Given the description of an element on the screen output the (x, y) to click on. 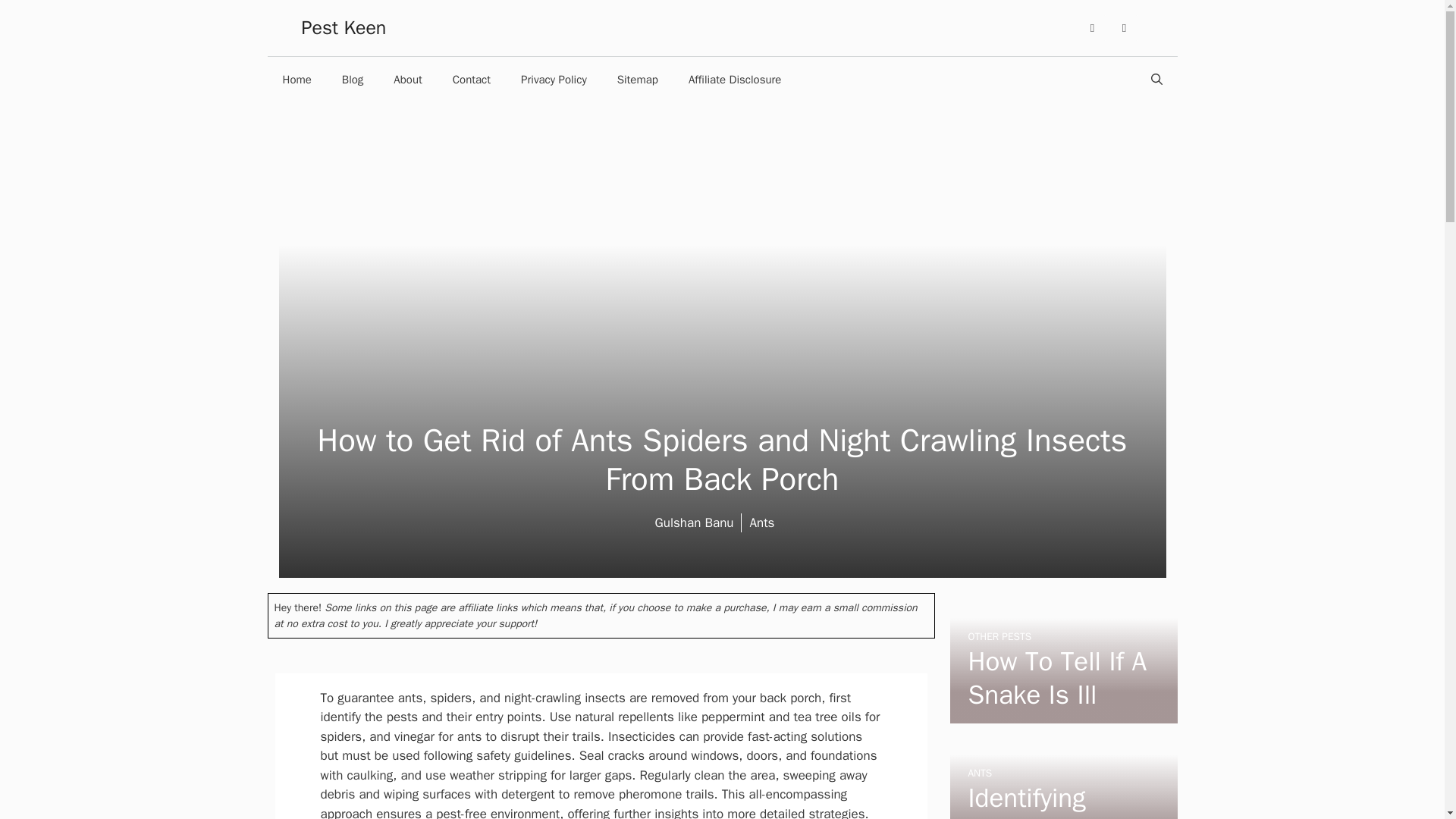
Contact (471, 79)
Blog (352, 79)
Facebook (1092, 27)
Identifying Raspberry Ants By Their Swarm (1057, 800)
Twitter (1124, 27)
How To Tell If A Snake Is Ill (1057, 677)
About (407, 79)
Affiliate Disclosure (734, 79)
Home (296, 79)
Sitemap (637, 79)
OTHER PESTS (999, 635)
ANTS (979, 772)
How To Tell If A Snake Is Ill (1062, 713)
Pest Keen (344, 27)
